Given the description of an element on the screen output the (x, y) to click on. 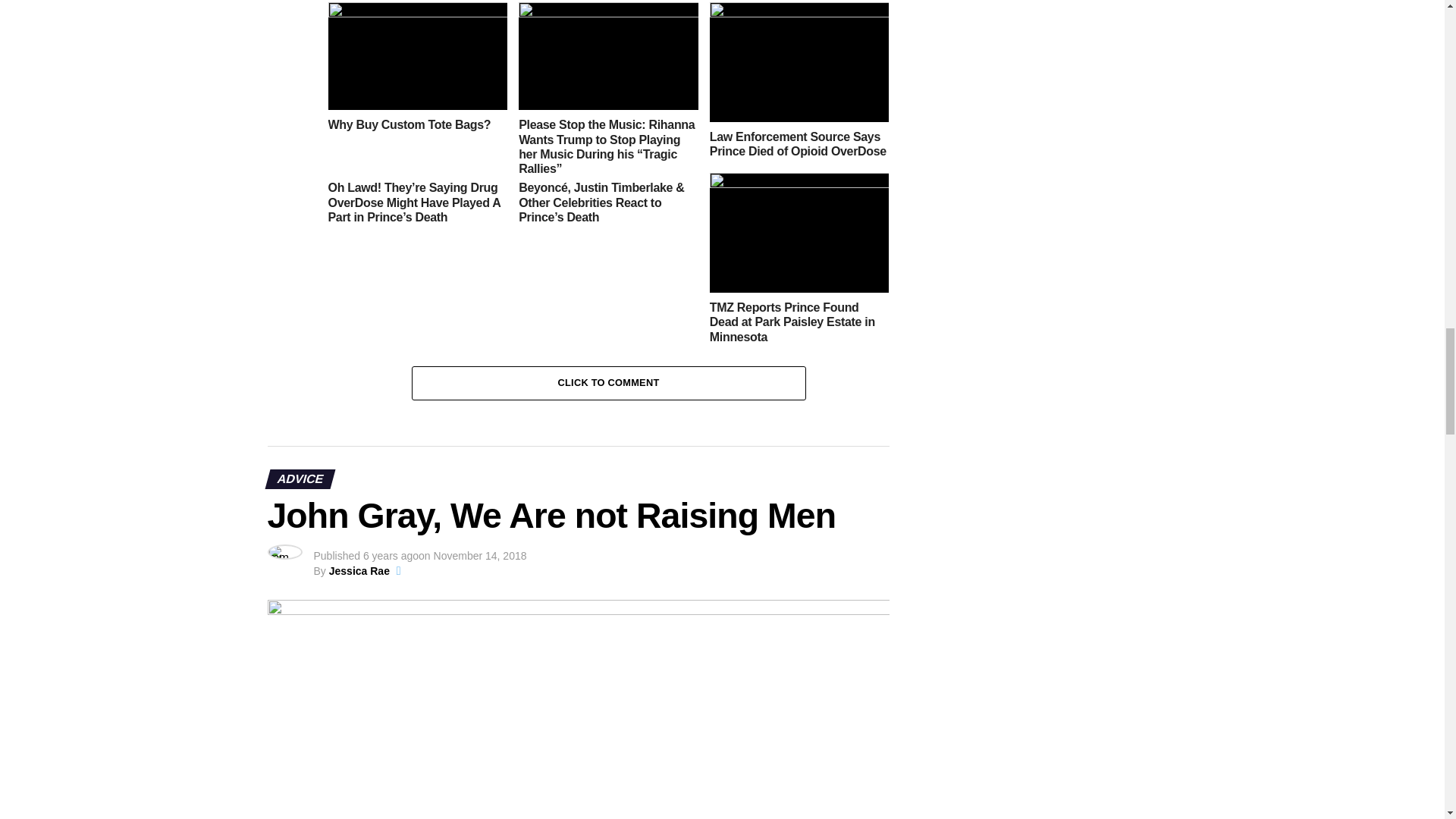
Posts by Jessica Rae (359, 571)
